Given the description of an element on the screen output the (x, y) to click on. 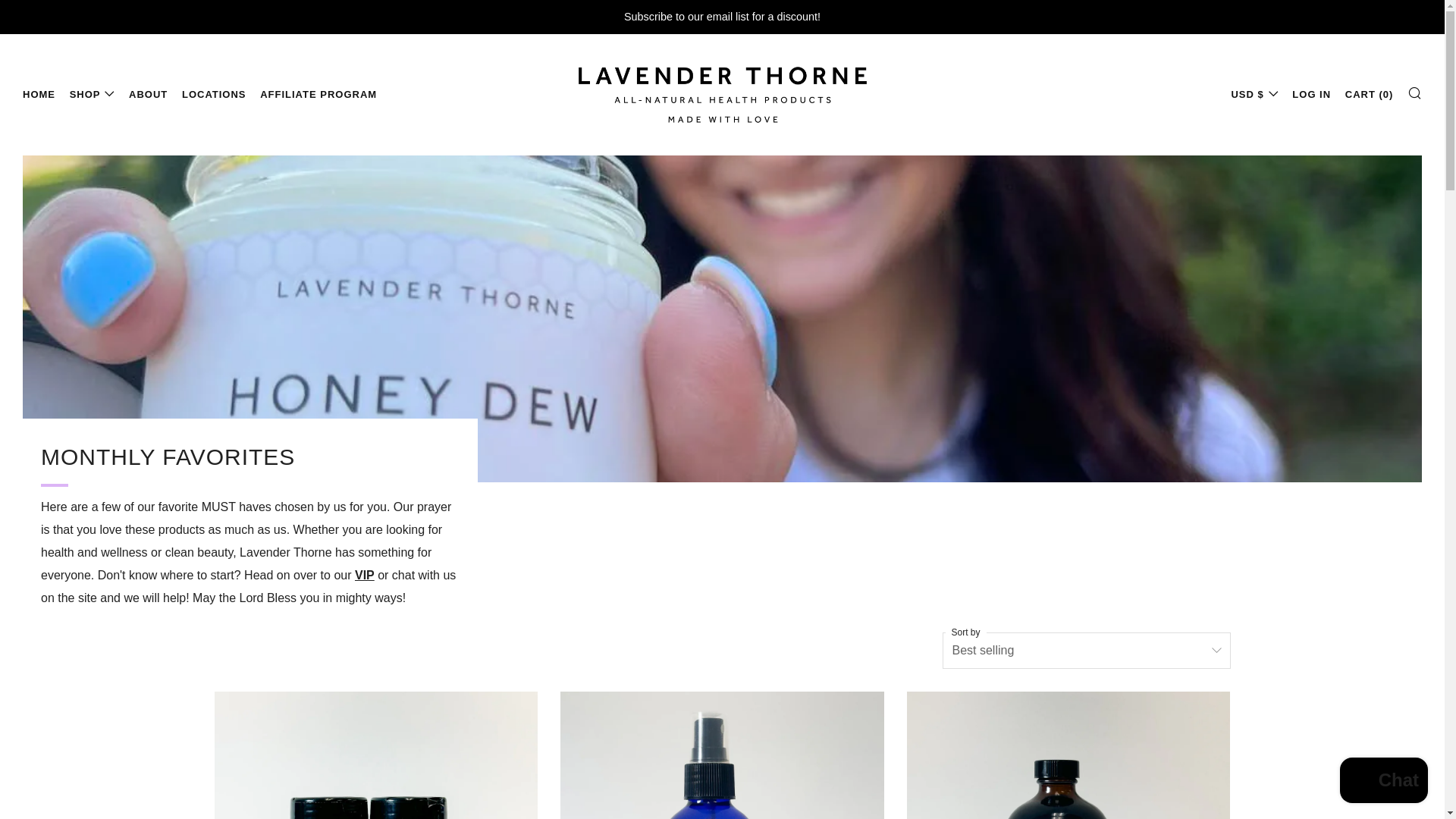
Dry Shampoo (375, 755)
Magnesium Spray (721, 755)
Elderberry Syrup (1068, 755)
VIP (364, 574)
